Given the description of an element on the screen output the (x, y) to click on. 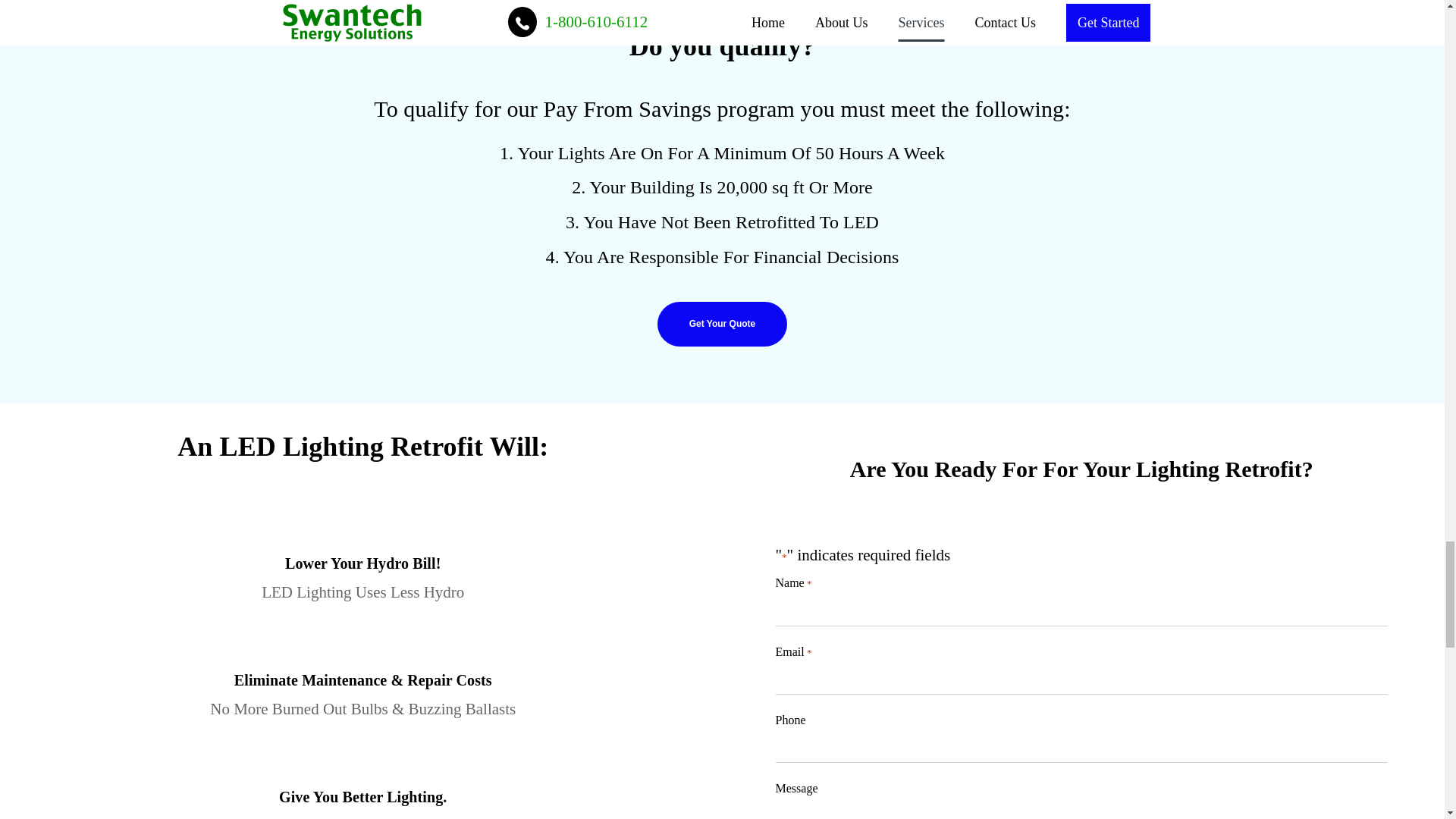
Get Your Quote (722, 324)
